Given the description of an element on the screen output the (x, y) to click on. 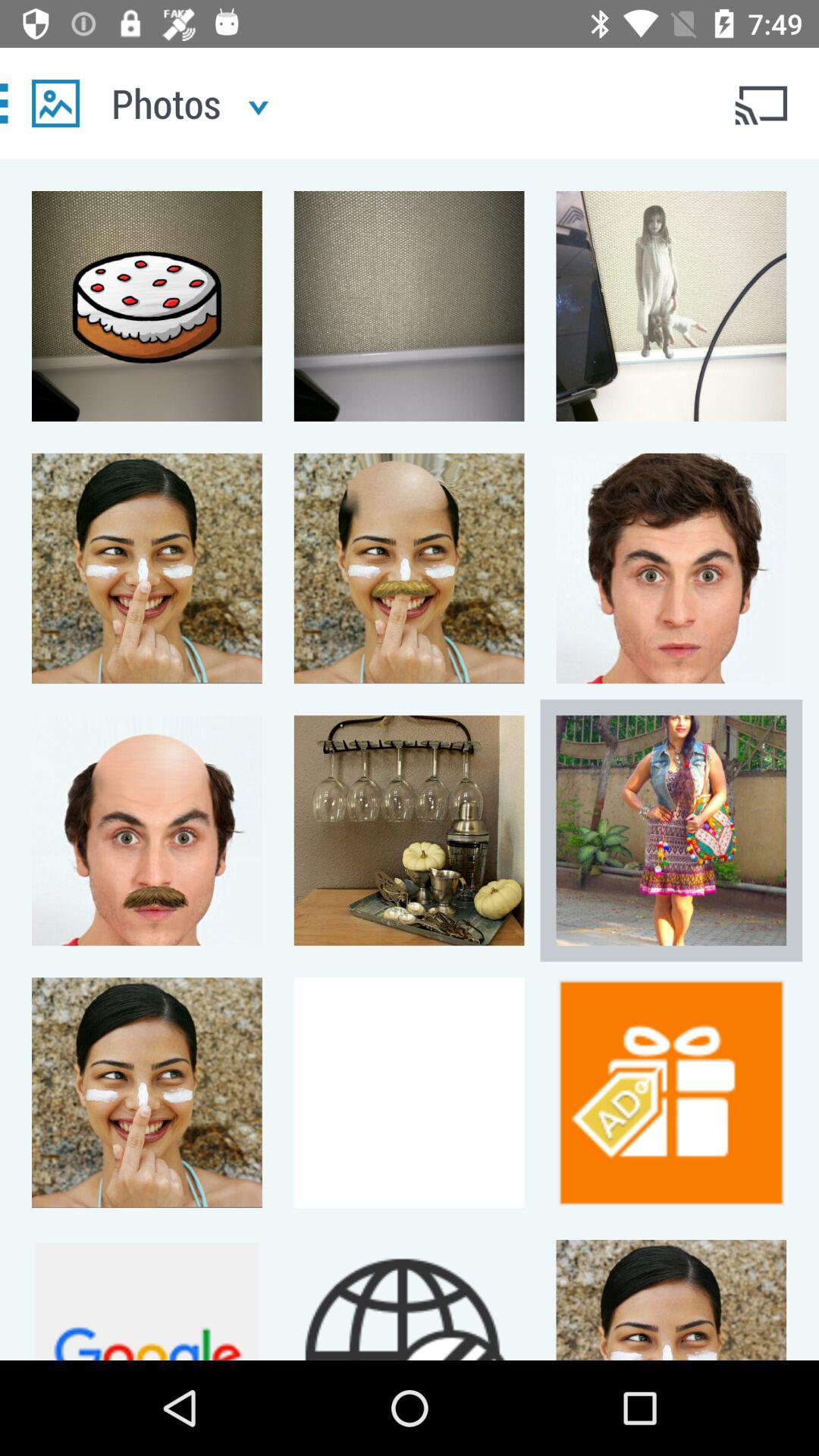
select photo (55, 103)
